Given the description of an element on the screen output the (x, y) to click on. 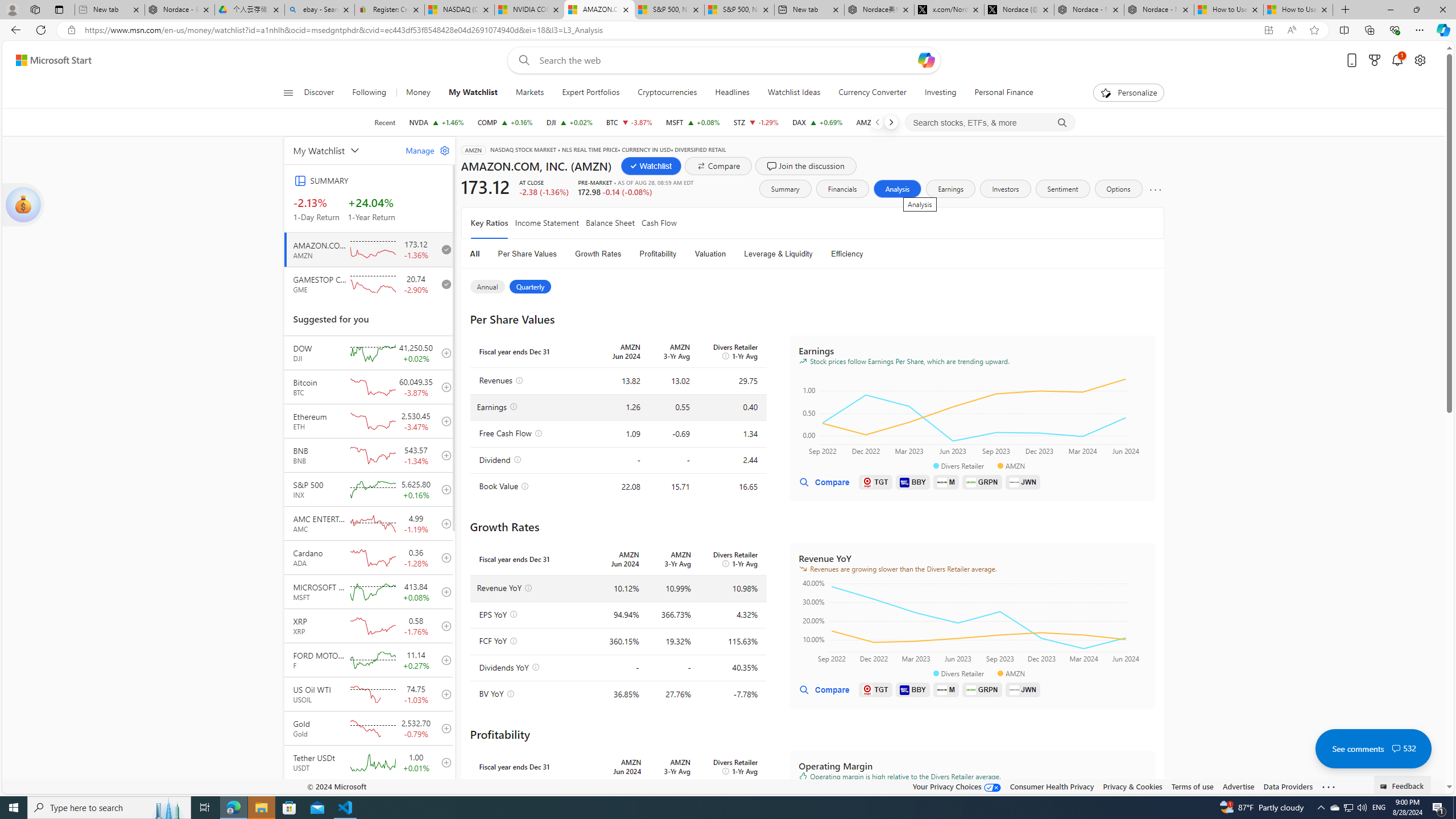
My Watchlist (341, 150)
Open Copilot (925, 59)
Investors (1004, 188)
Discover (319, 92)
Following (370, 92)
JWN (1022, 689)
Personal Finance (1003, 92)
Personal Finance (999, 92)
